Given the description of an element on the screen output the (x, y) to click on. 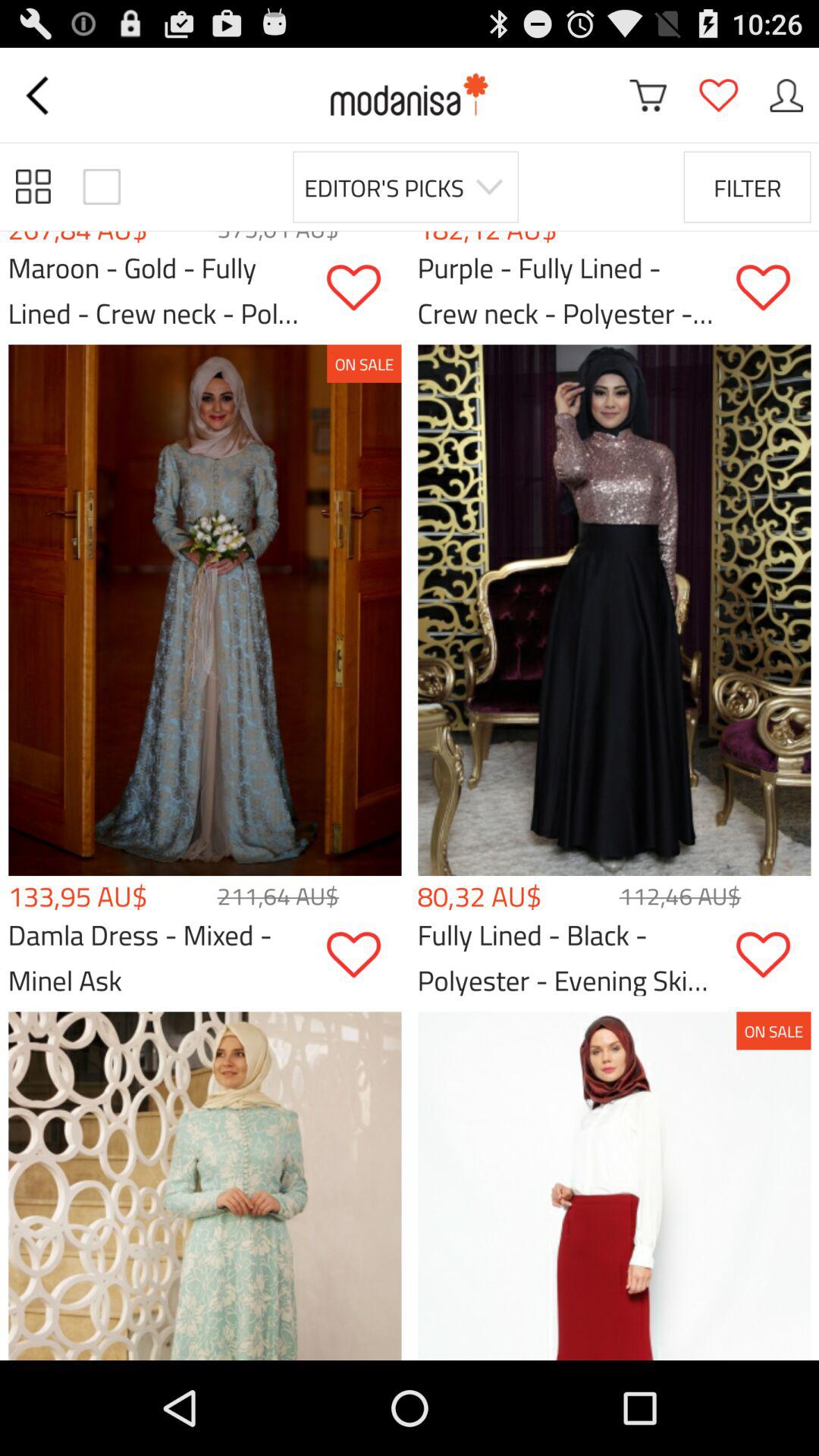
heart (363, 954)
